Given the description of an element on the screen output the (x, y) to click on. 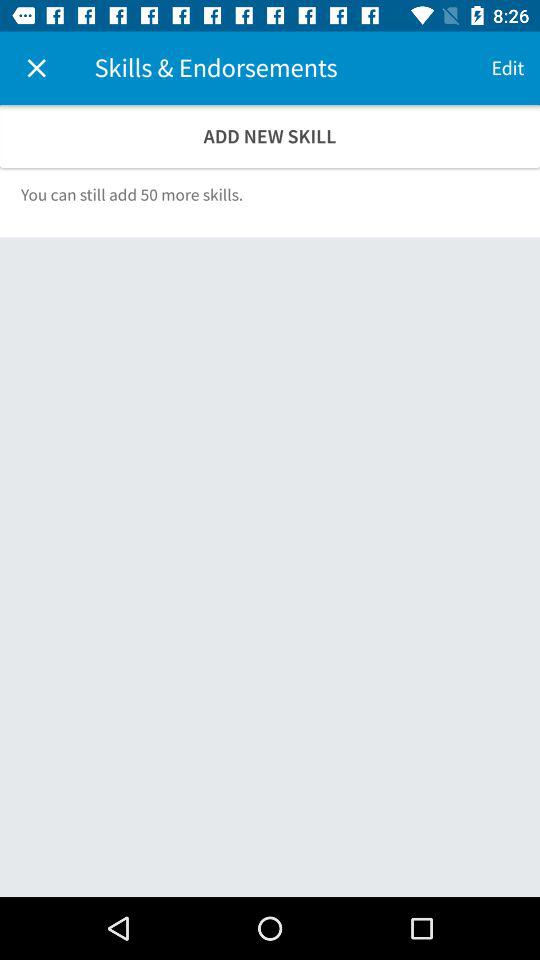
flip to the add new skill (270, 136)
